Given the description of an element on the screen output the (x, y) to click on. 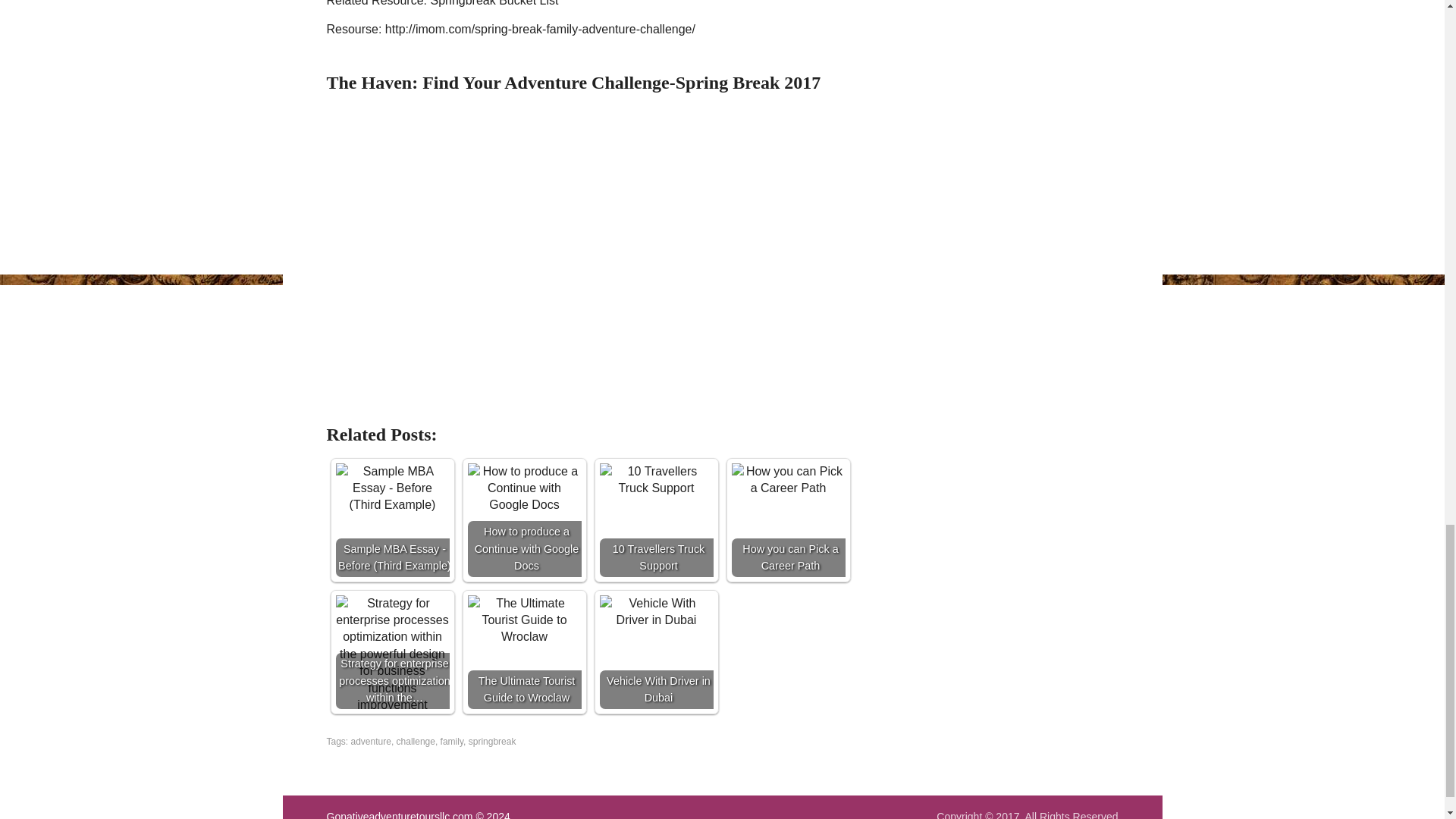
The Ultimate Tourist Guide to Wroclaw (523, 652)
family (452, 741)
How to produce a Continue with Google Docs (523, 488)
10 Travellers Truck Support (655, 480)
How you can Pick a Career Path (787, 520)
adventure (370, 741)
How you can Pick a Career Path (787, 480)
springbreak (492, 741)
10 Travellers Truck Support (655, 520)
The Ultimate Tourist Guide to Wroclaw (523, 620)
challenge (415, 741)
Vehicle With Driver in Dubai (655, 652)
How to produce a Continue with Google Docs (523, 520)
Vehicle With Driver in Dubai (655, 612)
